Given the description of an element on the screen output the (x, y) to click on. 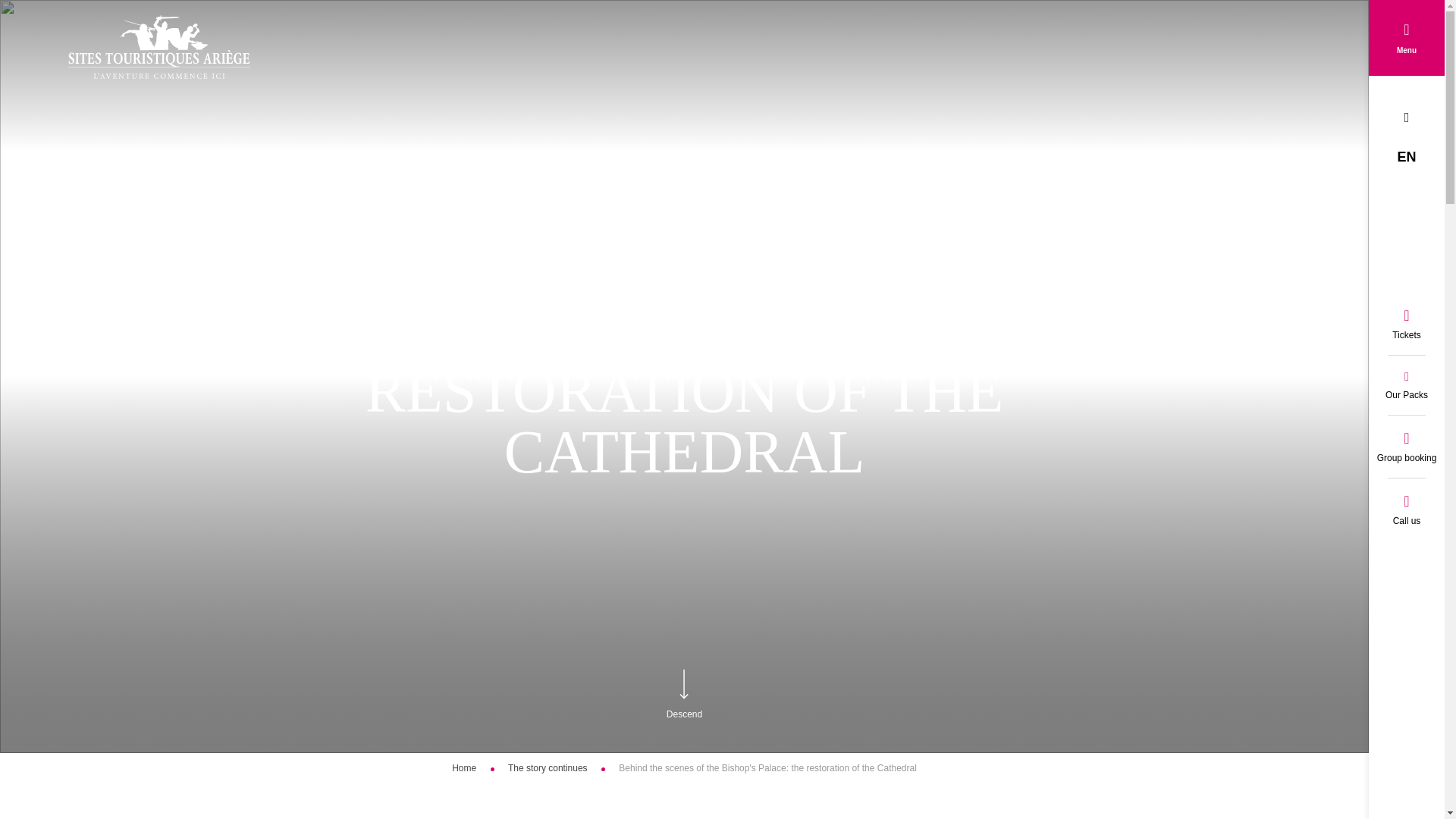
Descend (683, 714)
Home (463, 767)
The story continues (548, 767)
EN (1405, 155)
